Given the description of an element on the screen output the (x, y) to click on. 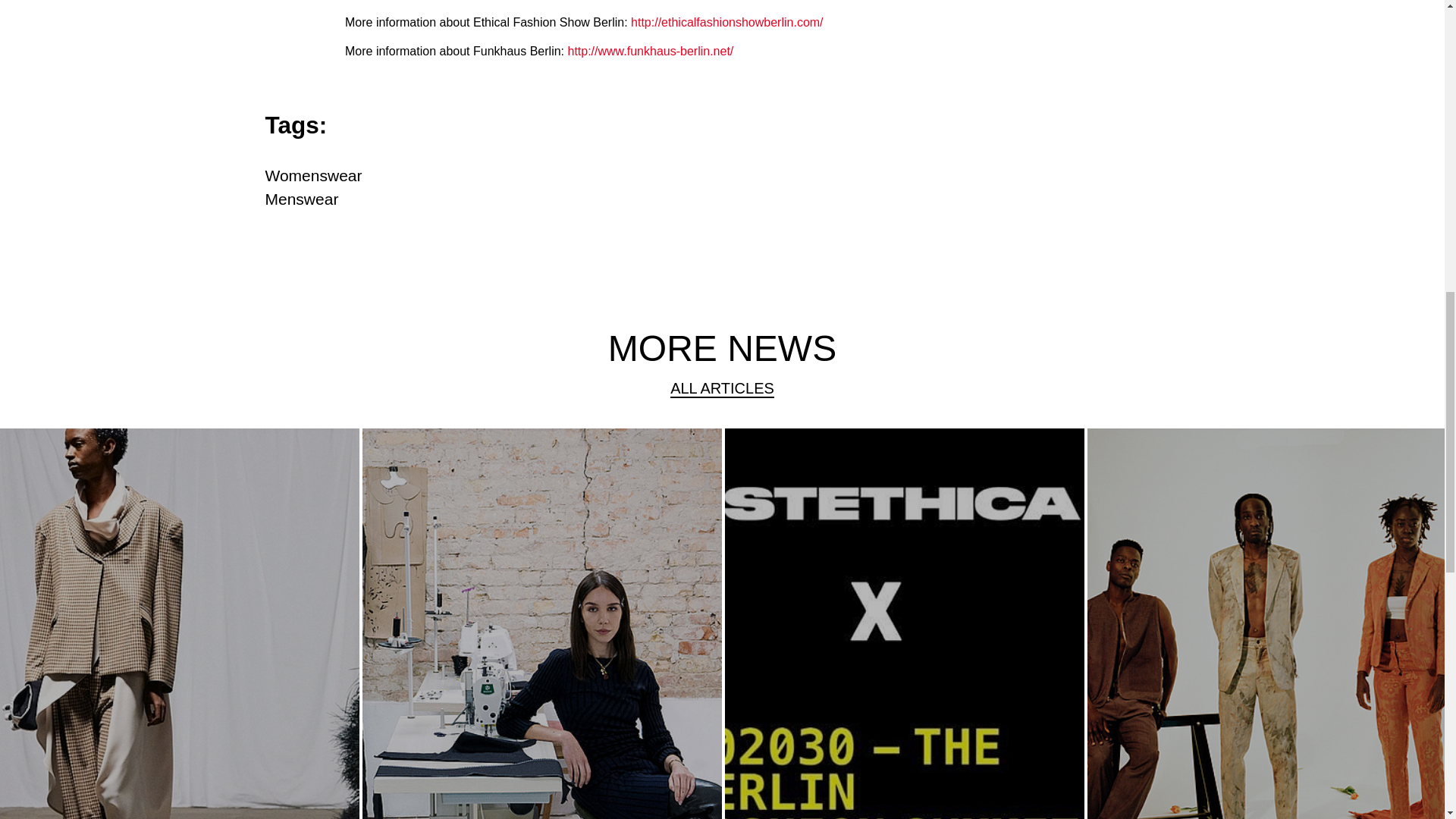
Womenswear (313, 175)
ALL ARTICLES (721, 388)
Menswear (301, 199)
